Given the description of an element on the screen output the (x, y) to click on. 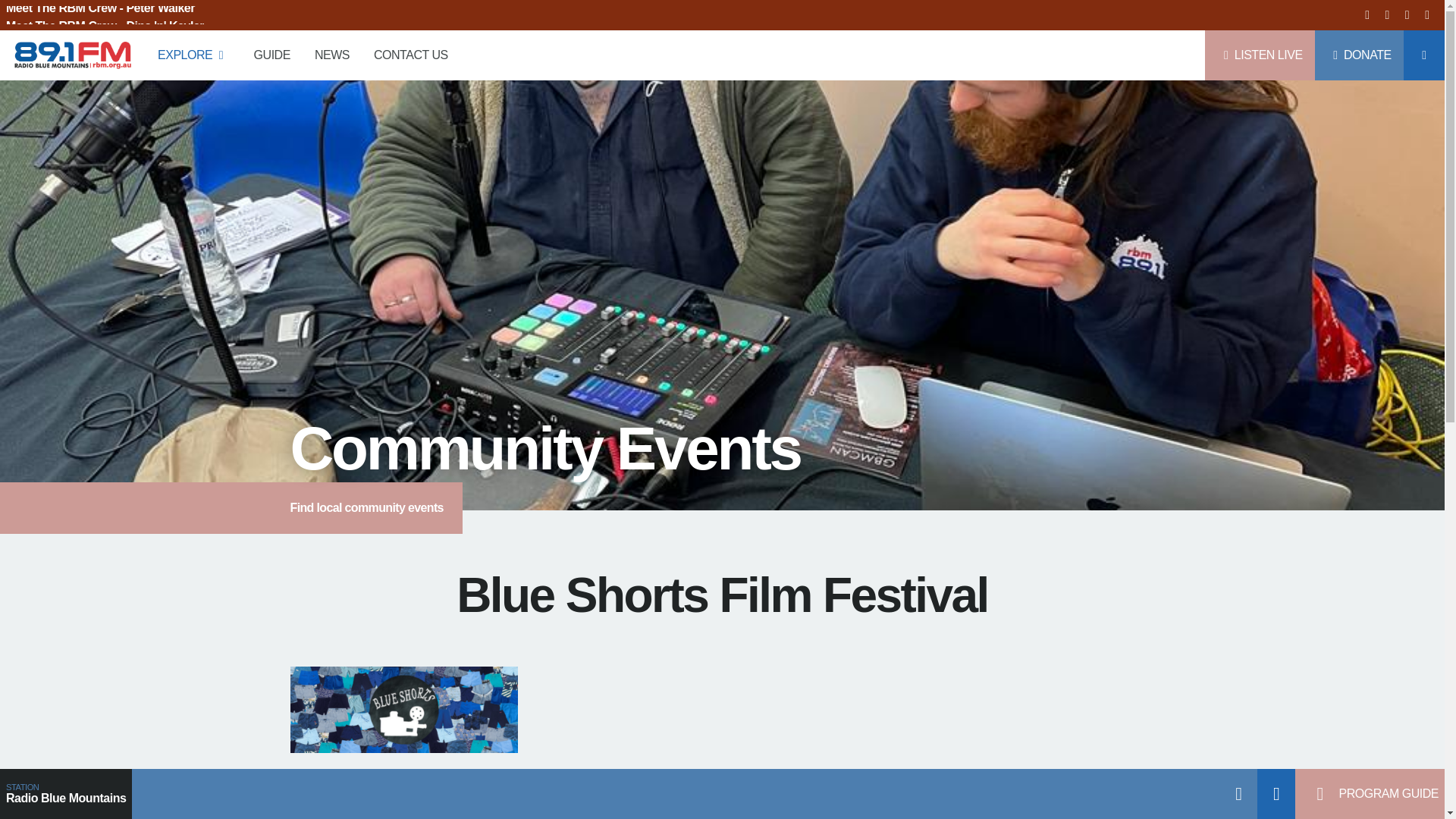
DONATE (1358, 55)
GUIDE (271, 55)
NEWS (331, 55)
Meet The RBM Crew - Peter Walker (104, 14)
EXPLORE (193, 55)
LISTEN LIVE (1259, 55)
CONTACT US (410, 55)
